Given the description of an element on the screen output the (x, y) to click on. 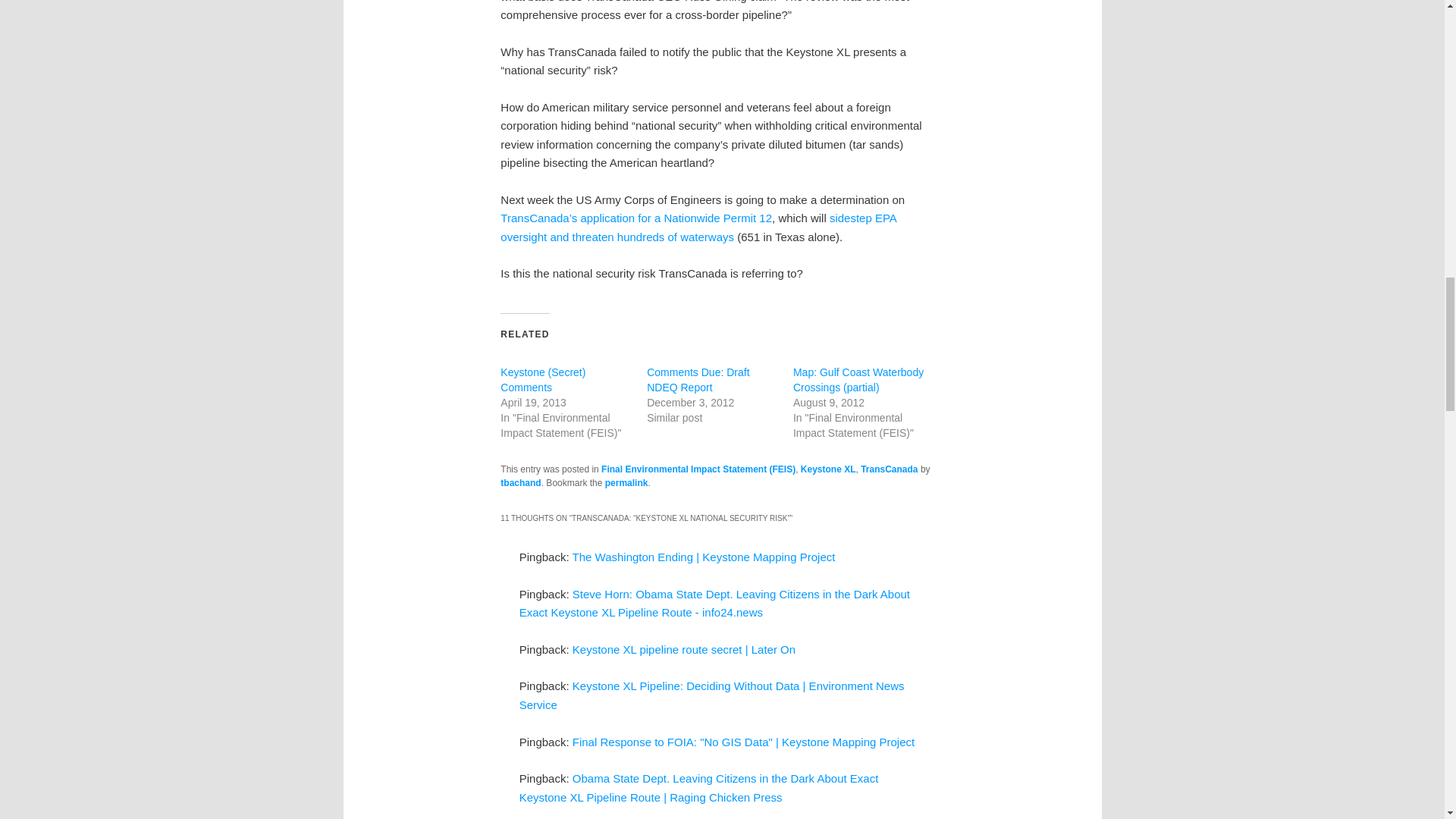
Keystone XL (828, 469)
tbachand (520, 482)
permalink (626, 482)
sidestep EPA oversight and threaten hundreds of waterways (698, 226)
Comments Due: Draft NDEQ Report (697, 379)
TransCanada (888, 469)
Comments Due: Draft NDEQ Report (697, 379)
